Given the description of an element on the screen output the (x, y) to click on. 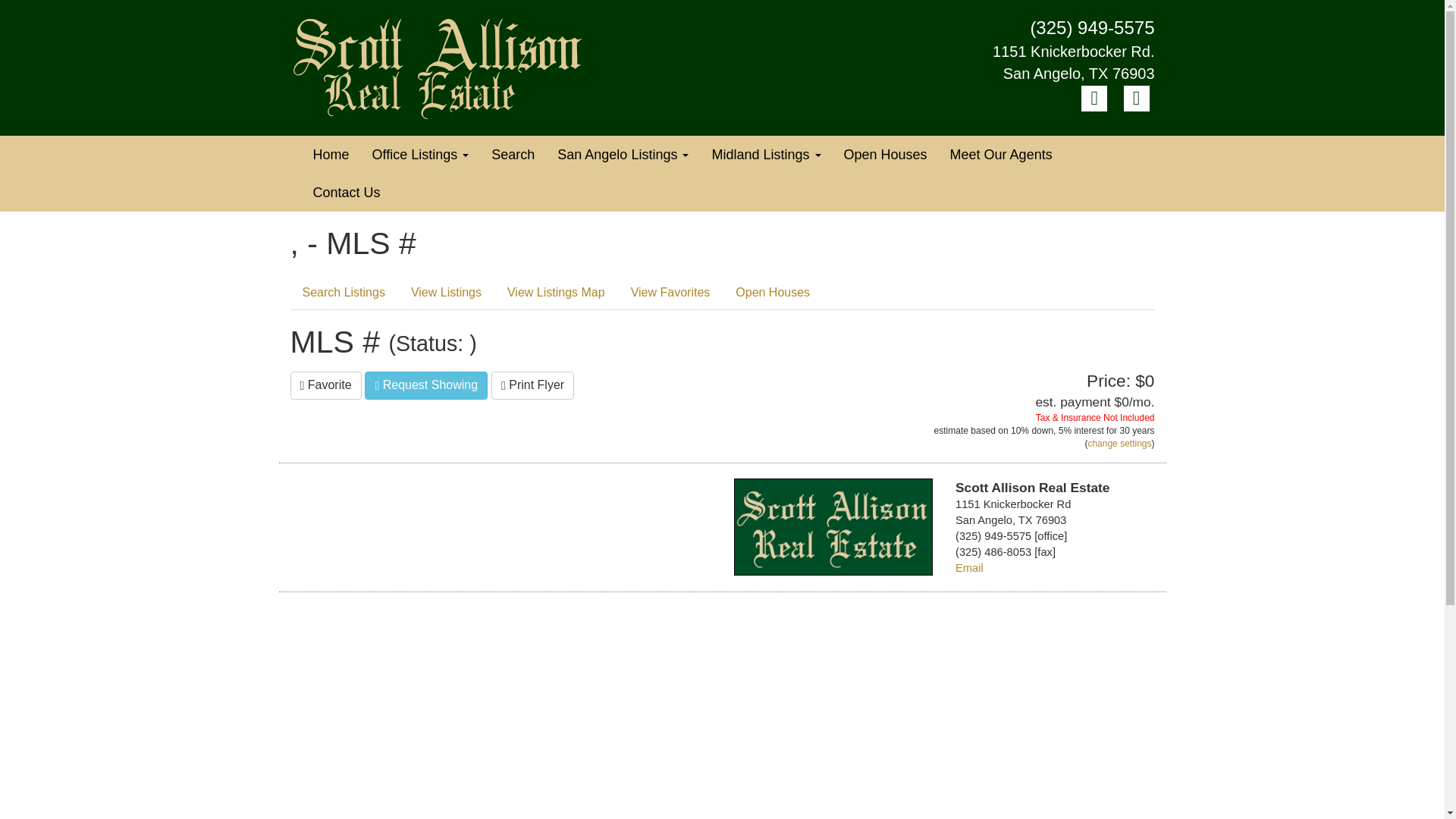
View Favorites (670, 293)
Open Houses (885, 154)
change settings (1119, 443)
Search (513, 154)
Midland Listings (765, 154)
Midland Listings (765, 154)
Office Listings (420, 154)
Search (513, 154)
San Angelo Listings (623, 154)
Open Houses (885, 154)
